Given the description of an element on the screen output the (x, y) to click on. 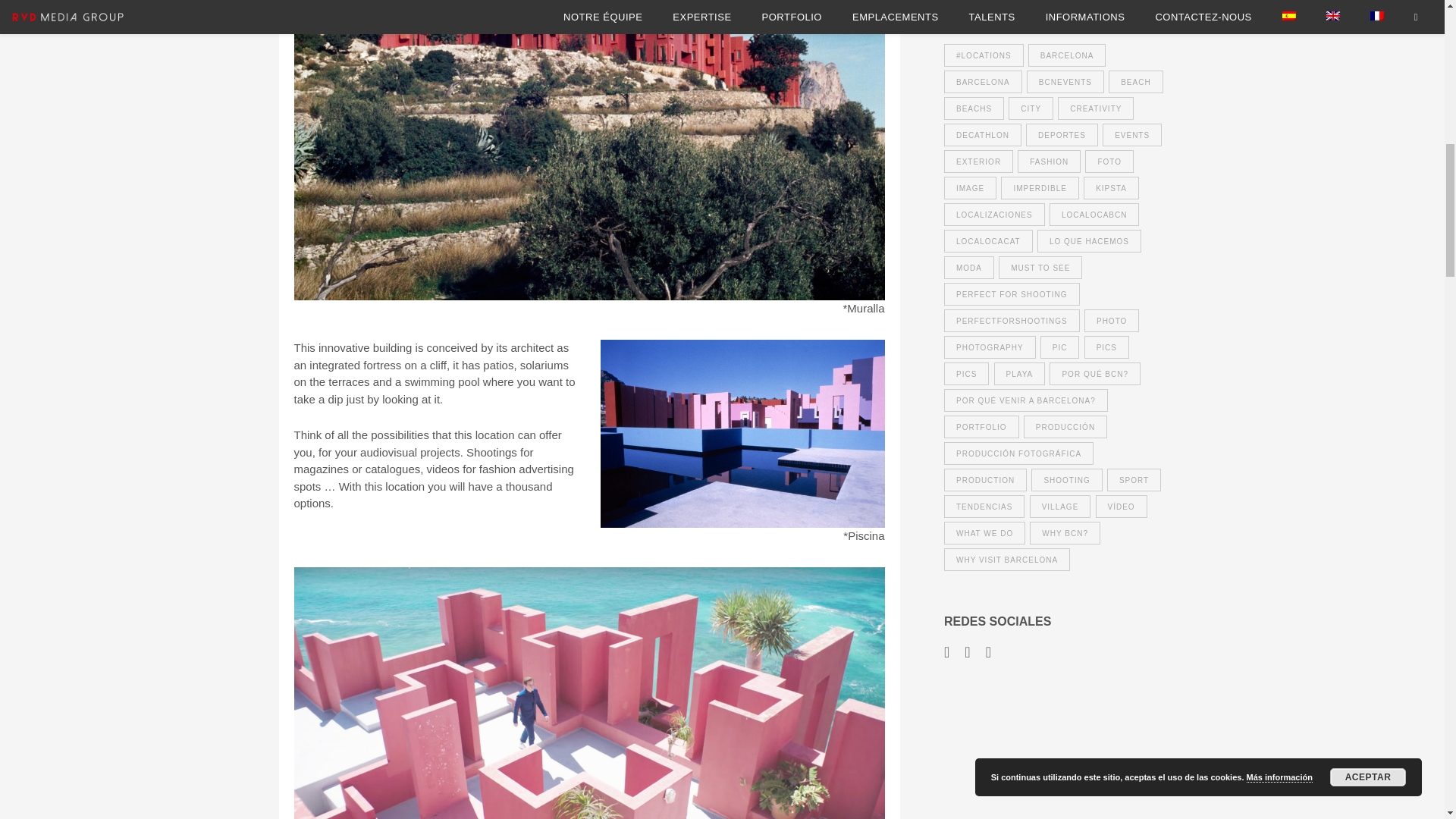
Facebook (949, 651)
